Given the description of an element on the screen output the (x, y) to click on. 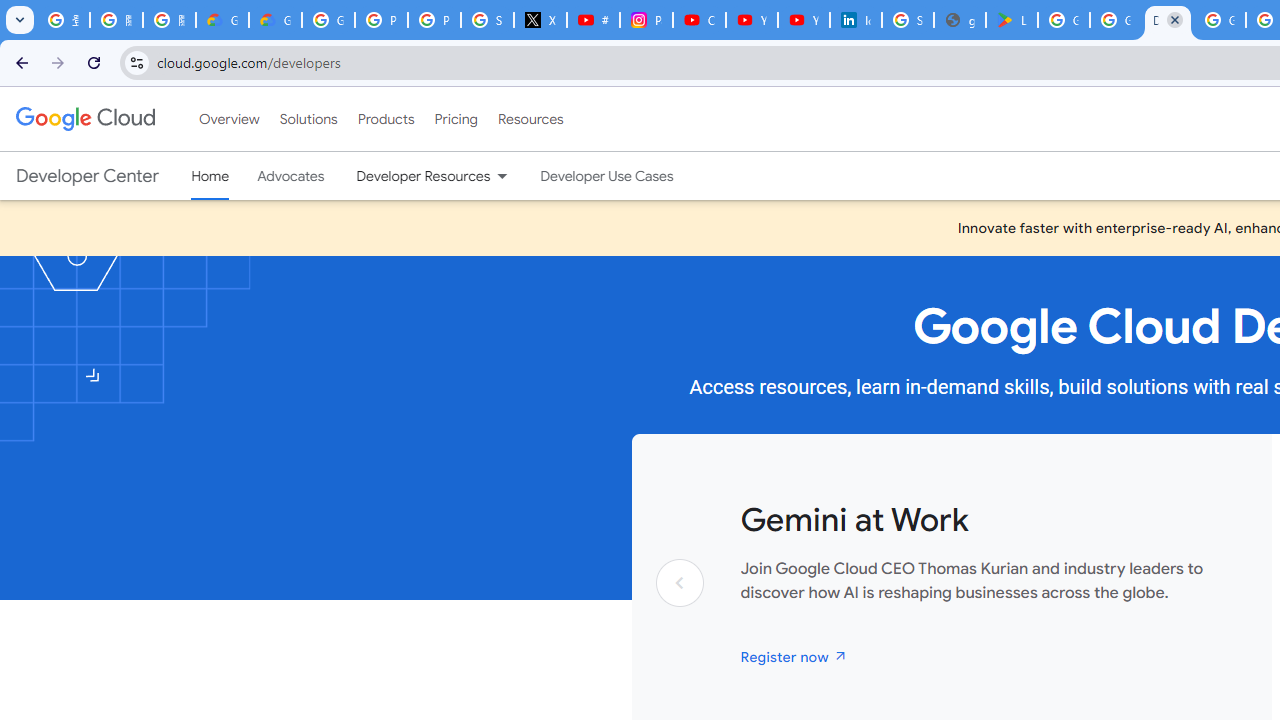
Google Workspace - Specific Terms (1115, 20)
Last Shelter: Survival - Apps on Google Play (1011, 20)
X (540, 20)
Resources (530, 119)
Pricing (455, 119)
Sign in - Google Accounts (487, 20)
google_privacy_policy_en.pdf (959, 20)
YouTube Culture & Trends - YouTube Top 10, 2021 (803, 20)
Register now (793, 656)
